Given the description of an element on the screen output the (x, y) to click on. 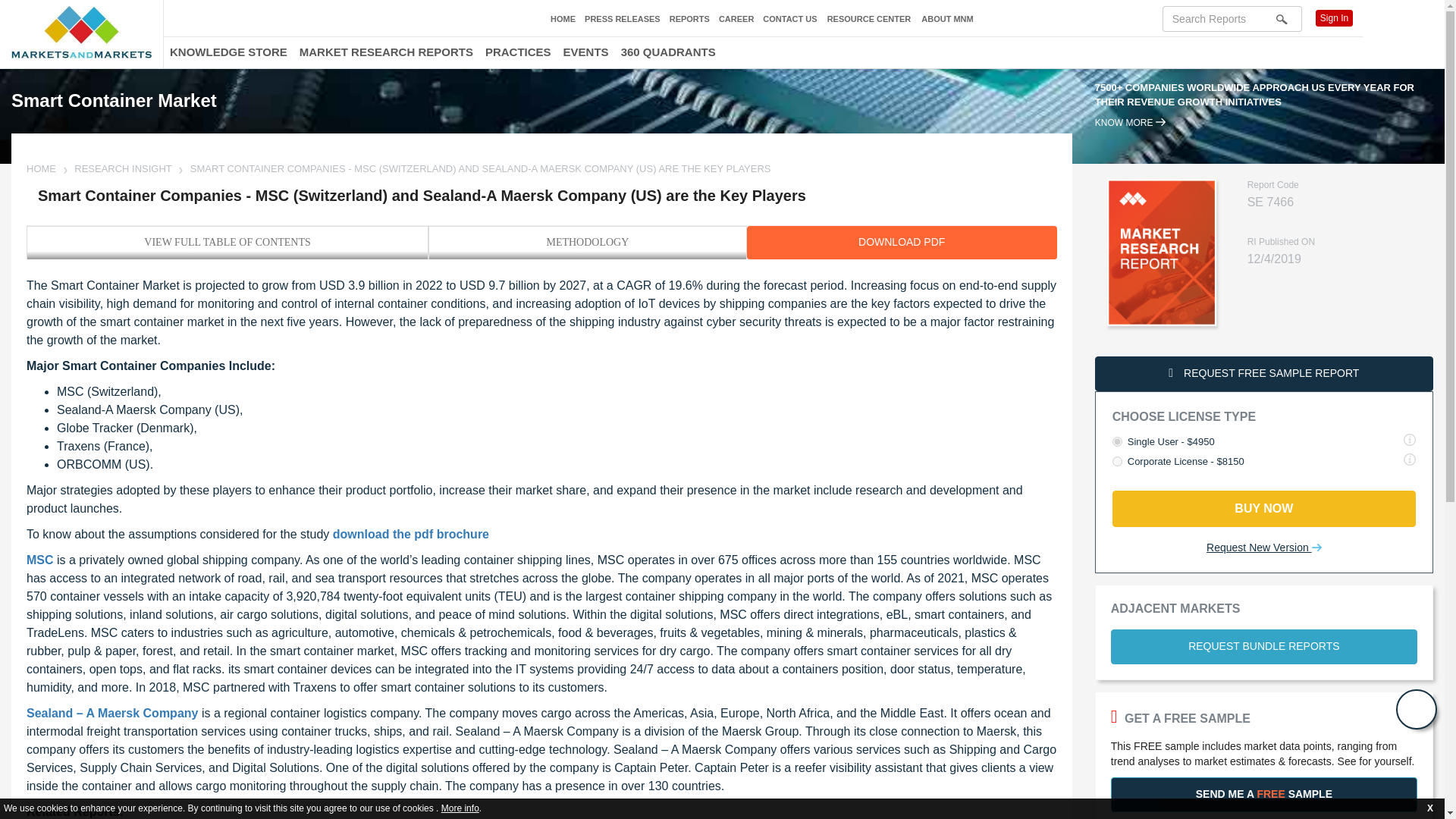
View Full TABLE OF Contents (227, 242)
METHODOLOGY (587, 242)
DOWNLOAD PDF (901, 242)
RESEARCH INSIGHT (122, 168)
SEND ME A FREE SAMPLE (1263, 794)
REPORTS (689, 18)
BUY NOW (1263, 508)
on (1117, 441)
RESOURCE CENTER (869, 19)
